Given the description of an element on the screen output the (x, y) to click on. 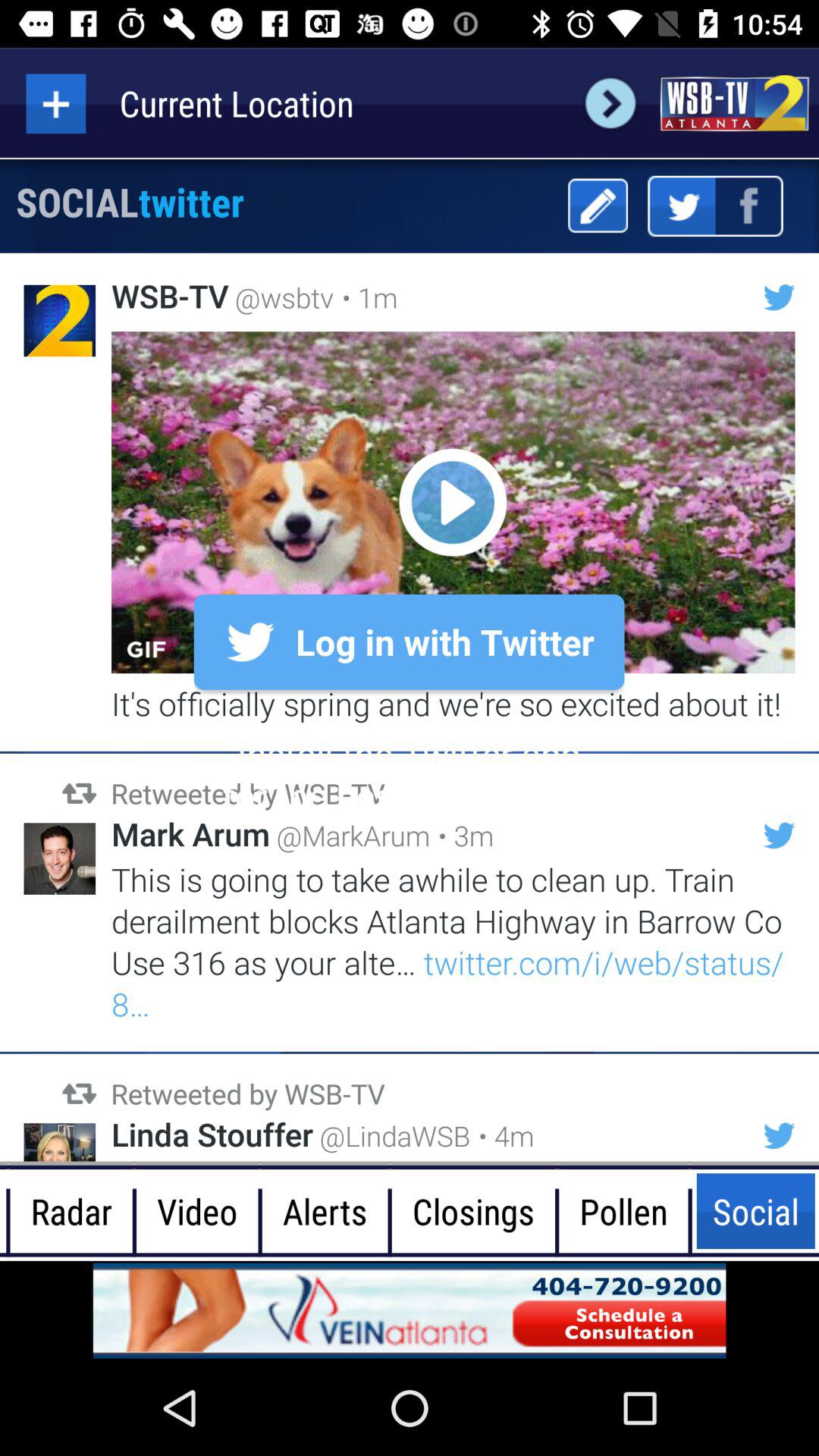
edit button (597, 206)
